Given the description of an element on the screen output the (x, y) to click on. 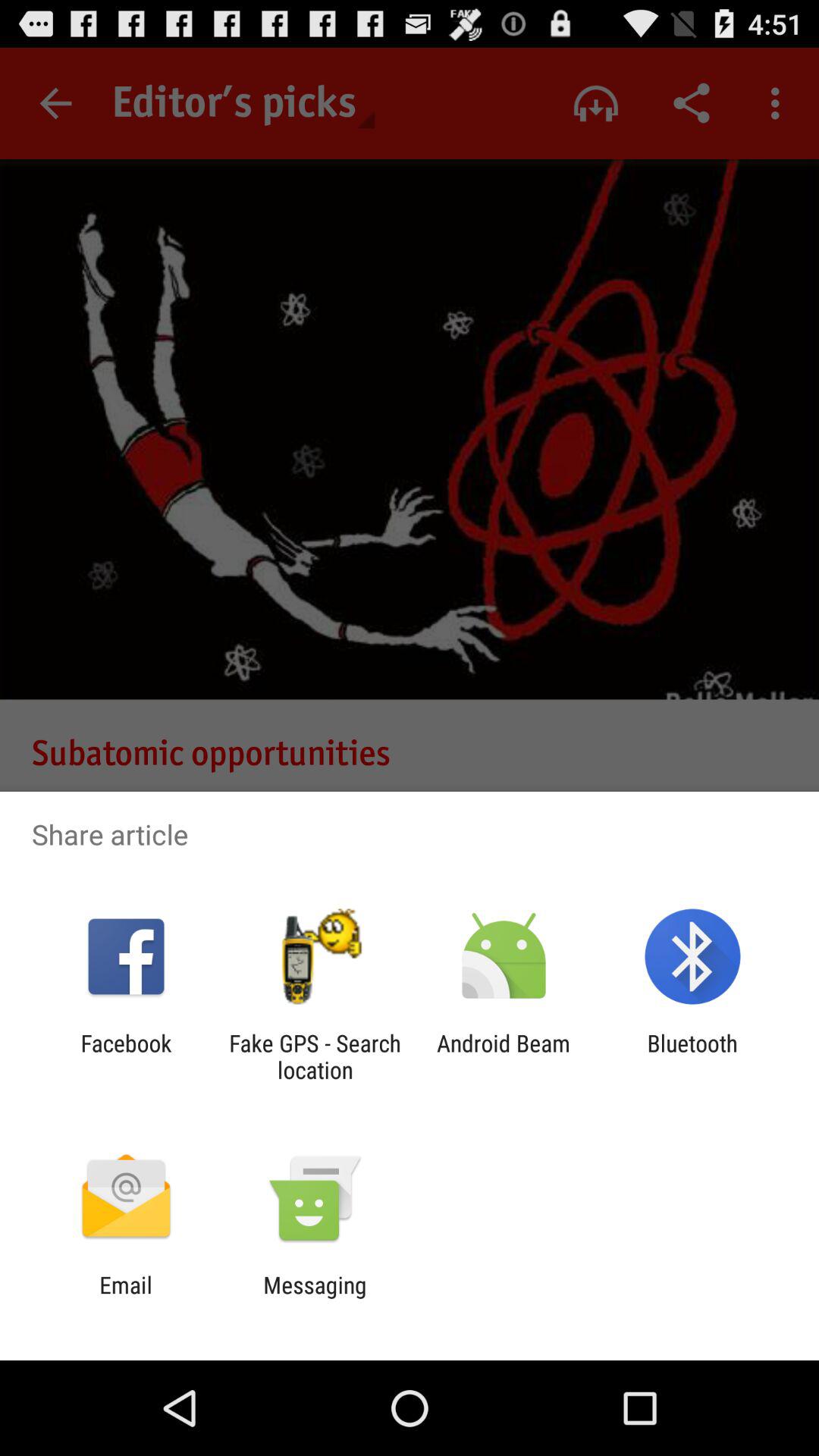
tap the item to the right of facebook (314, 1056)
